Given the description of an element on the screen output the (x, y) to click on. 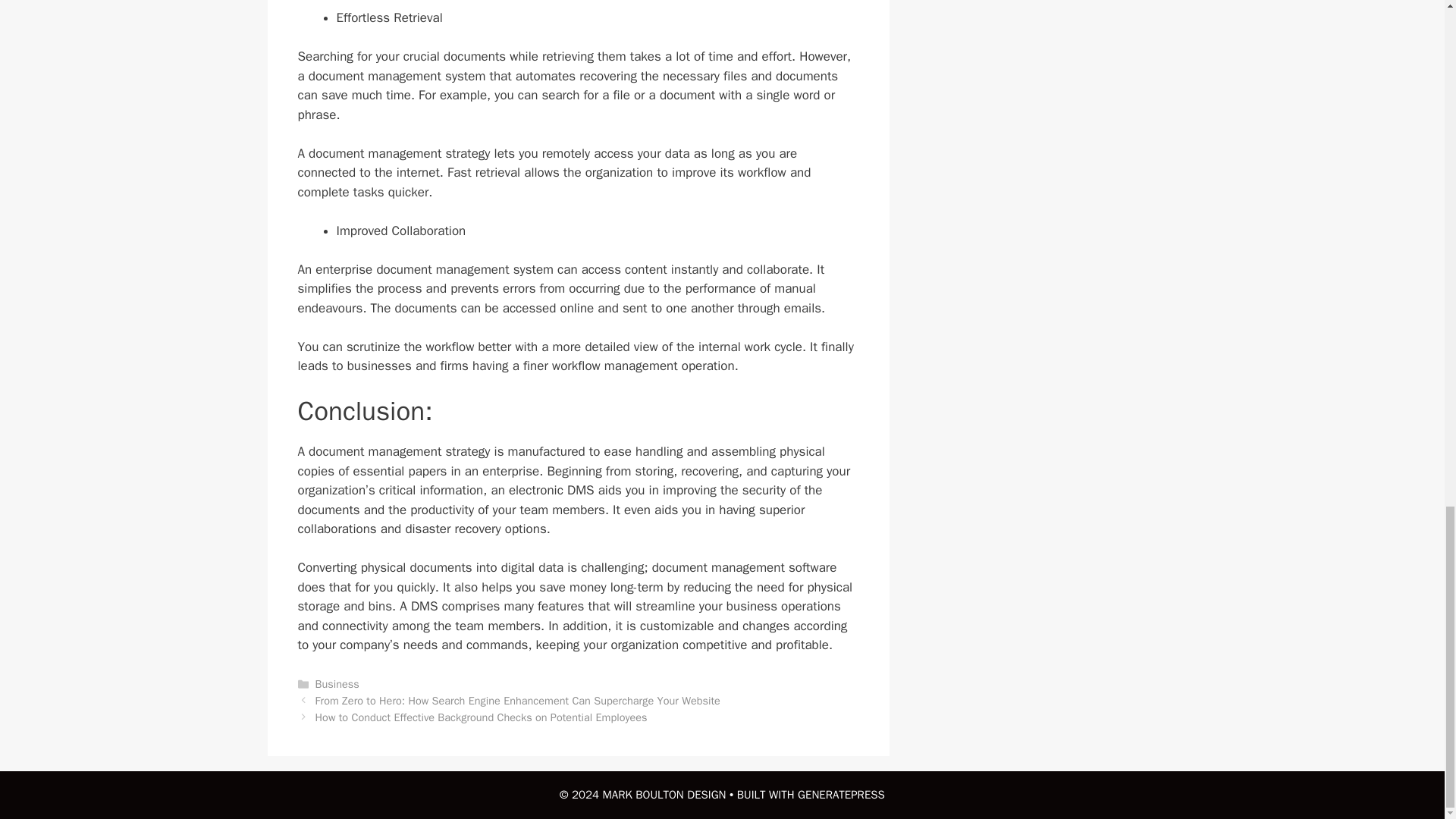
GENERATEPRESS (841, 794)
Business (337, 684)
